Given the description of an element on the screen output the (x, y) to click on. 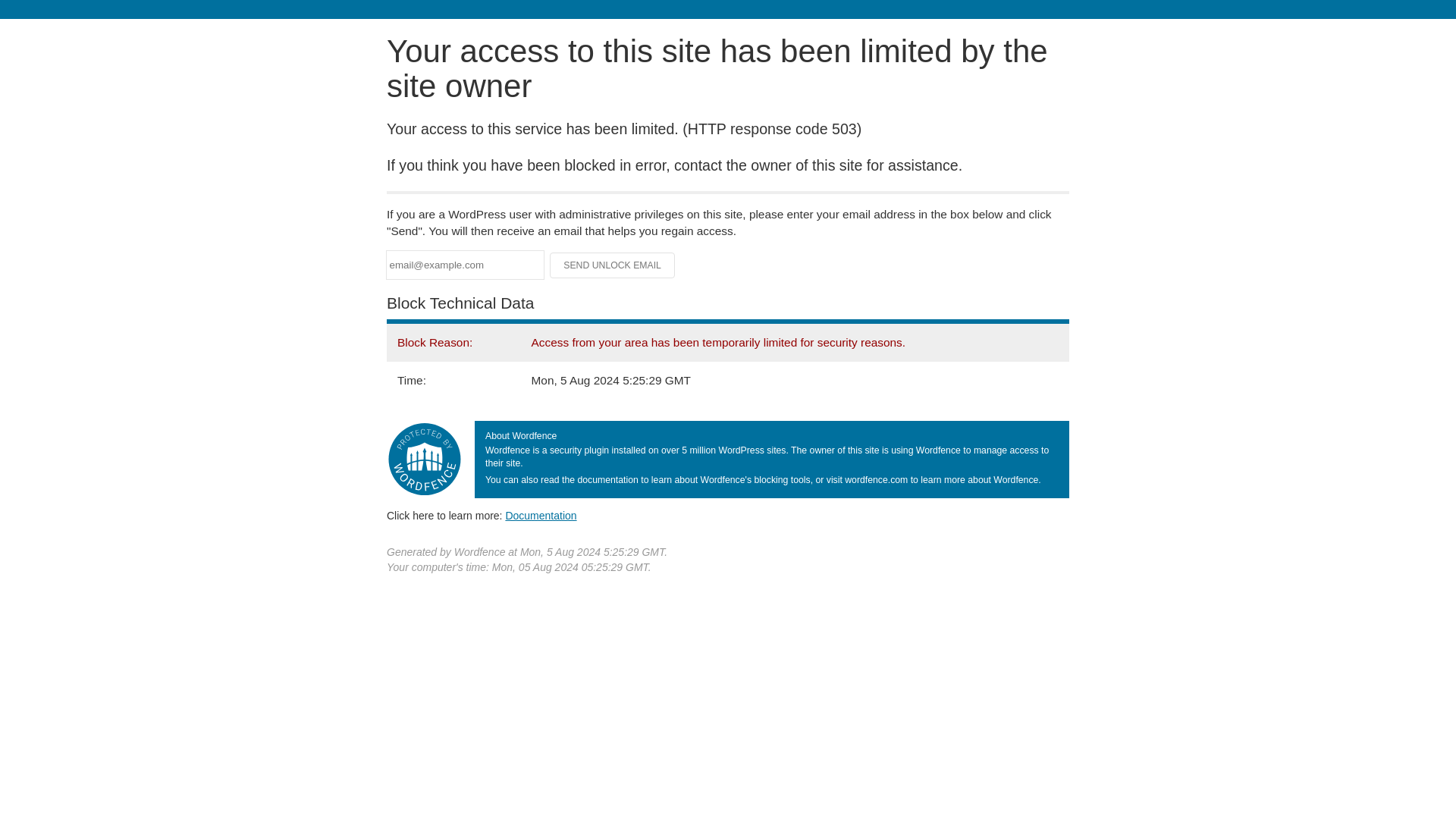
Send Unlock Email (612, 265)
Documentation (540, 515)
Send Unlock Email (612, 265)
